Given the description of an element on the screen output the (x, y) to click on. 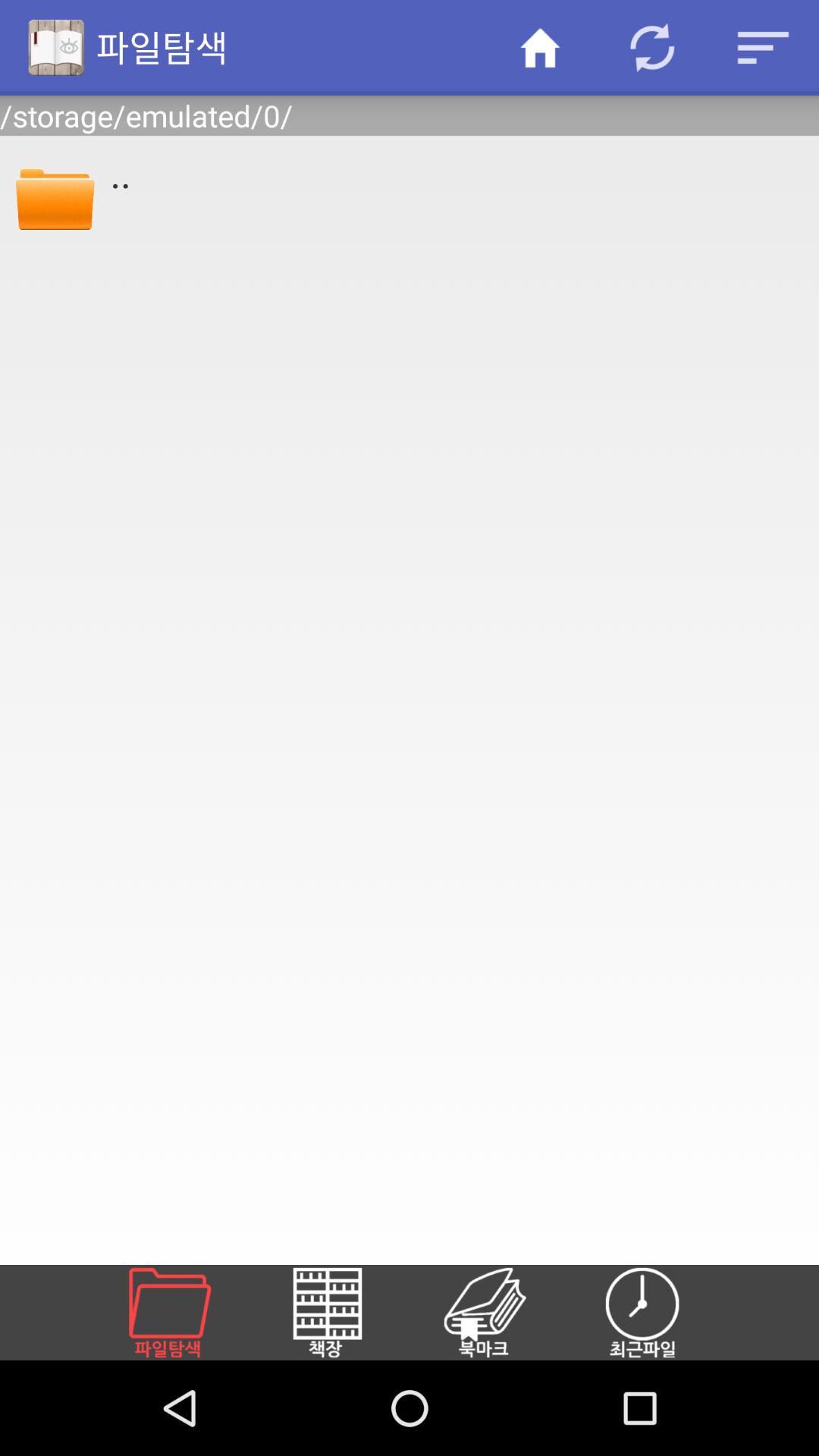
tap the icon below .. item (502, 1312)
